Given the description of an element on the screen output the (x, y) to click on. 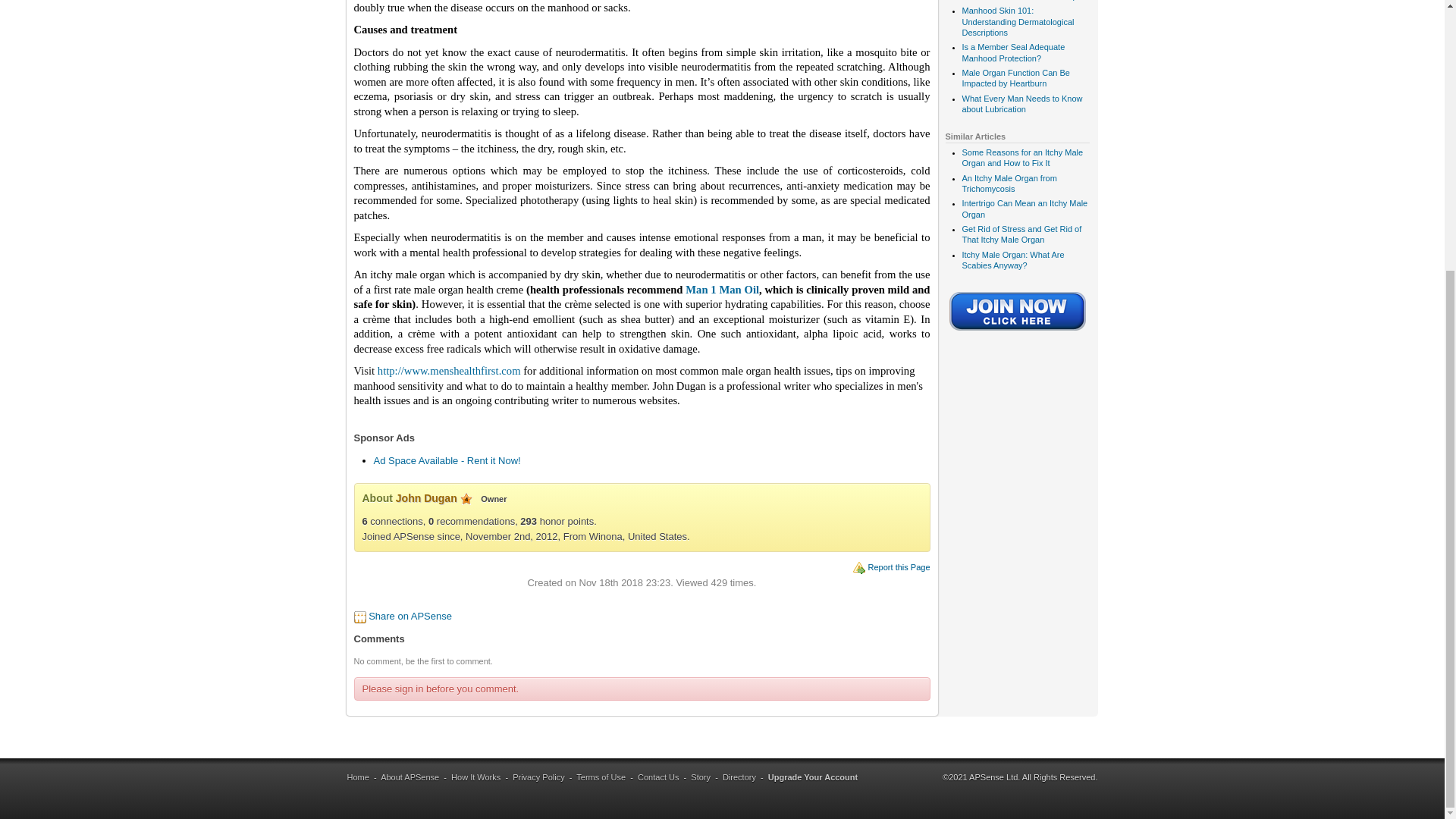
Is a Member Seal Adequate Manhood Protection? (1012, 52)
Intertrigo Can Mean an Itchy Male Organ (1023, 208)
Join APSense Social Network (1017, 331)
Advanced (465, 499)
Manhood Skin 101: Understanding Dermatological Descriptions (1017, 20)
Is a Member Seal Adequate Manhood Protection? (1012, 52)
Man 1 Man Oil (721, 289)
Get Rid of Stress and Get Rid of That Itchy Male Organ (1020, 234)
Manhood Skin 101: Understanding Dermatological Descriptions (1017, 20)
John Dugan (426, 498)
Ad Space Available - Rent it Now! (445, 460)
Itchy Male Organ: What Are Scabies Anyway? (1012, 260)
Some Reasons for an Itchy Male Organ and How to Fix It (1021, 157)
Share on APSense (409, 615)
Male Organ Function Can Be Impacted by Heartburn (1014, 77)
